Given the description of an element on the screen output the (x, y) to click on. 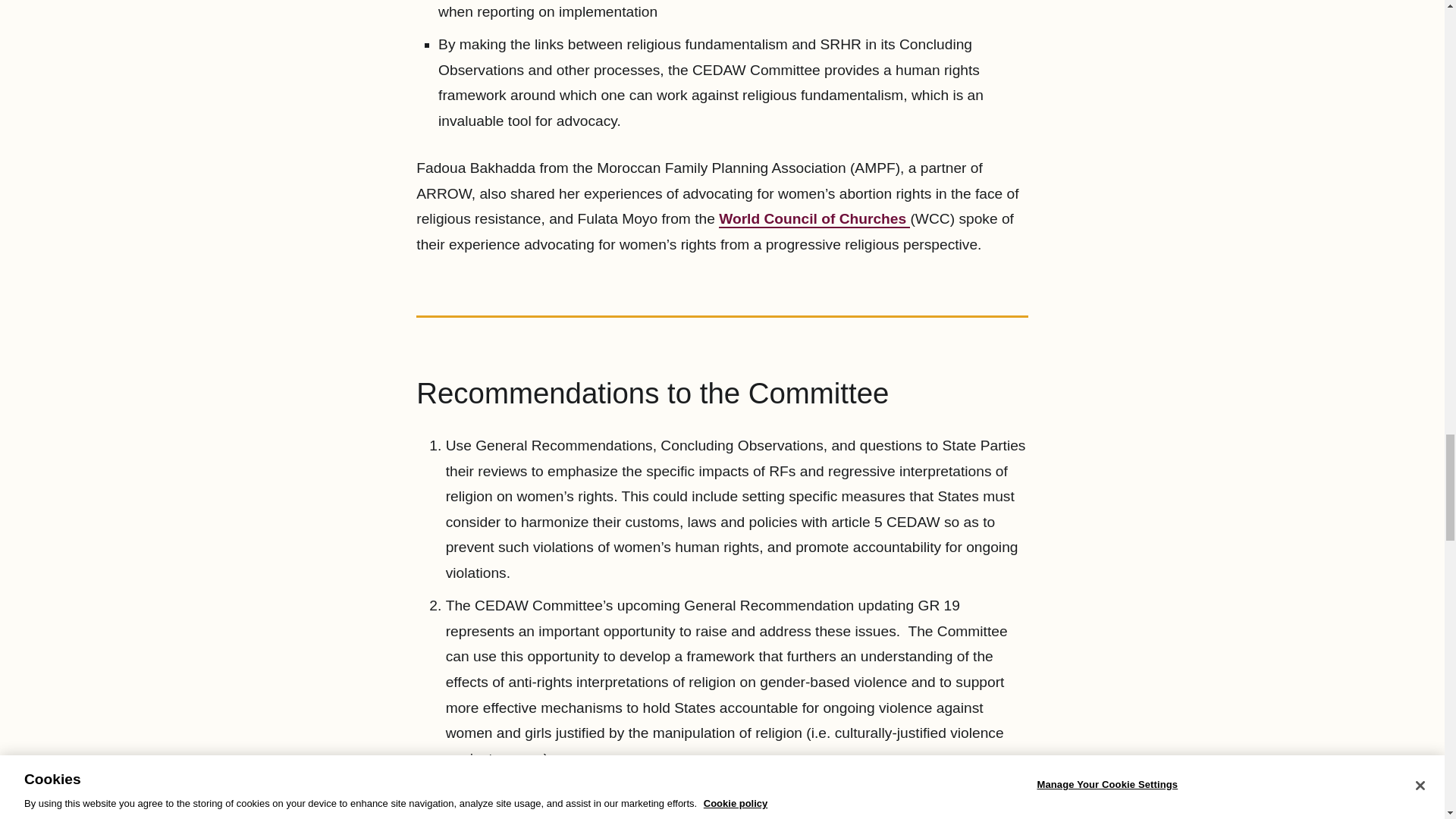
World Council of Churches (814, 219)
